Given the description of an element on the screen output the (x, y) to click on. 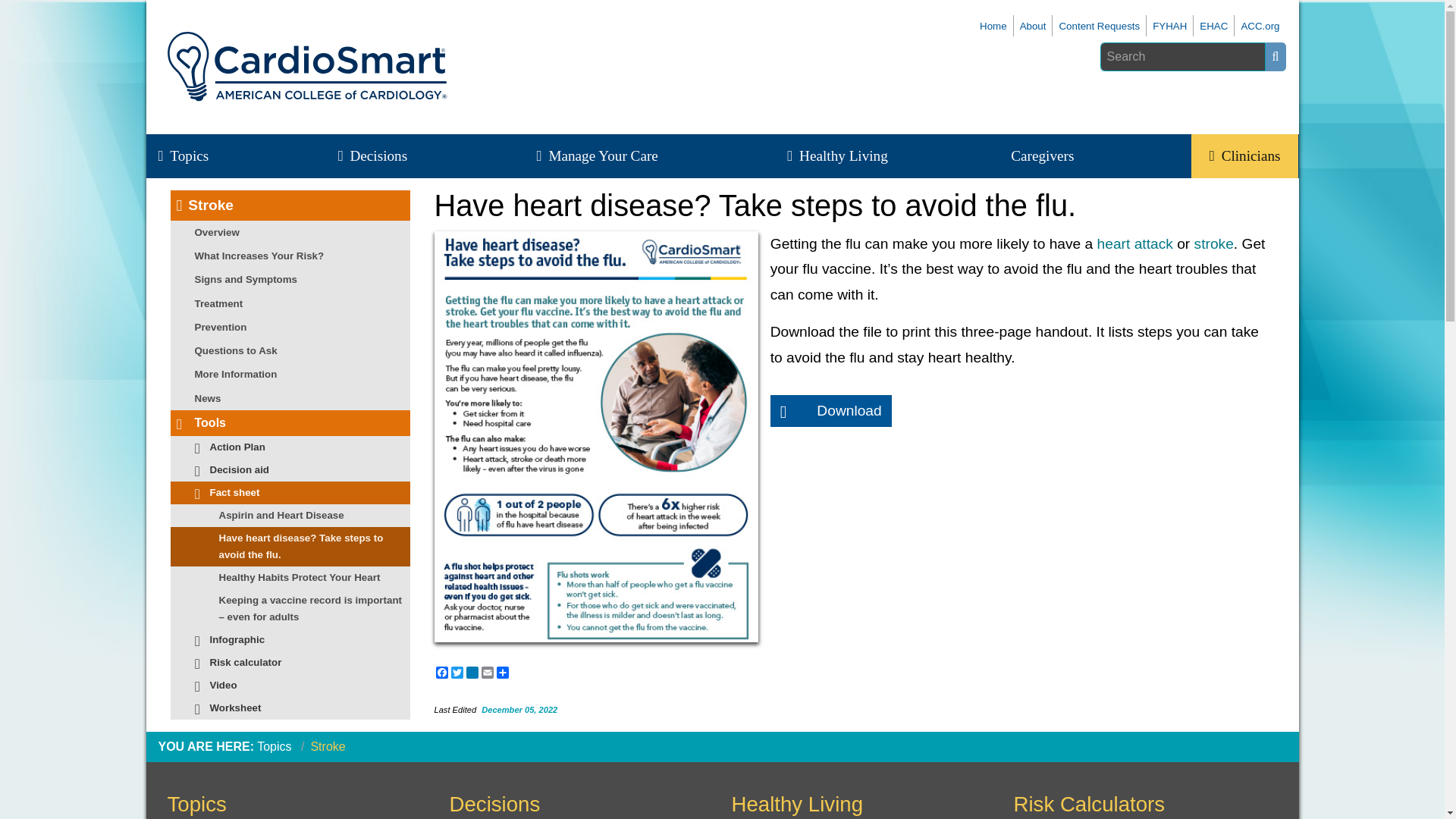
ACC.org (1259, 25)
American College of Cardiology (1259, 25)
About CardioSmart (1033, 25)
Early Heart Attack Care (1213, 25)
EHAC (1213, 25)
About (1033, 25)
Topics (192, 156)
CardioSmart (993, 25)
Content Requests (1099, 25)
Home (993, 25)
FYHAH (1169, 25)
About CardioSmart (1099, 25)
